Given the description of an element on the screen output the (x, y) to click on. 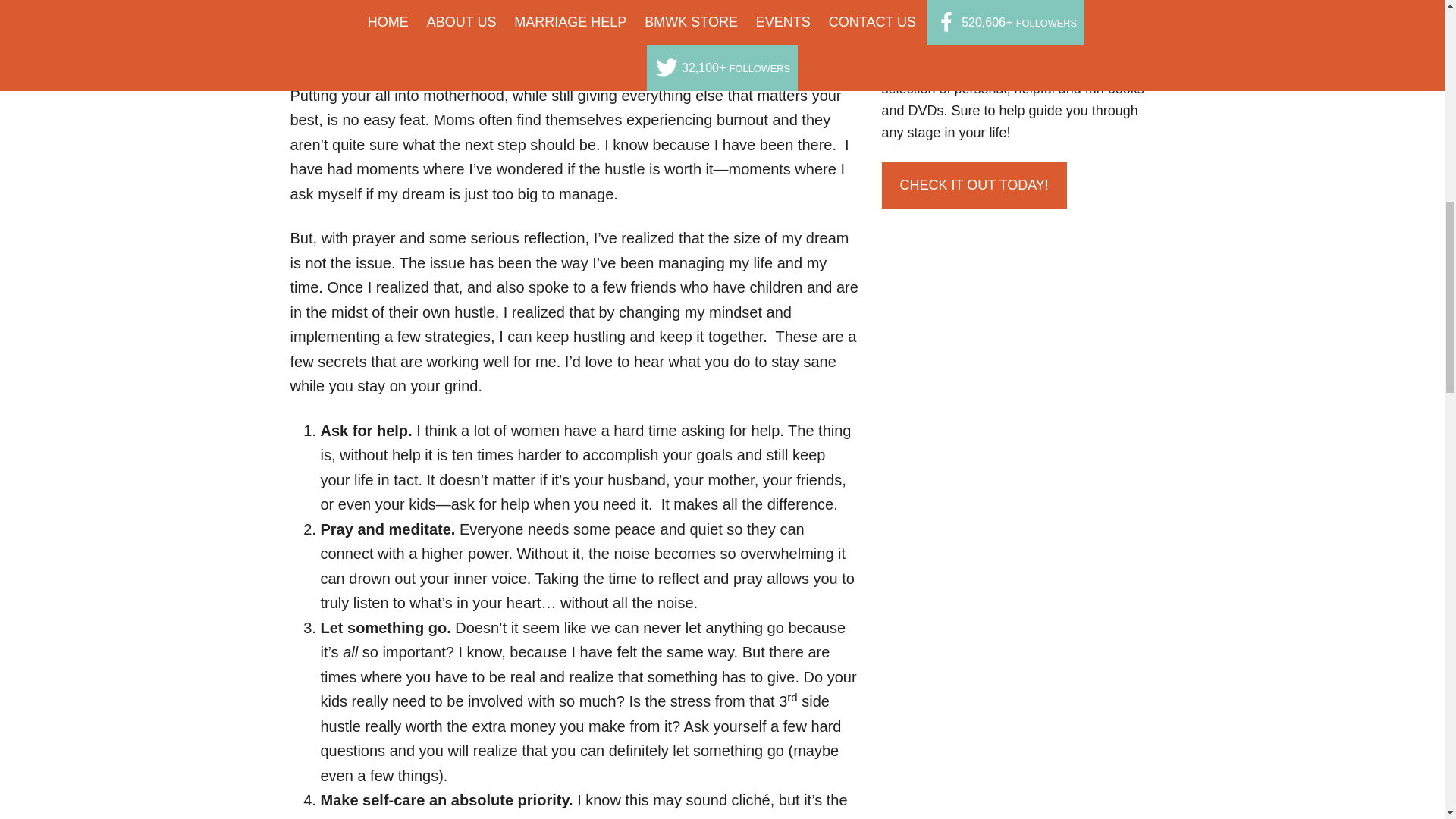
CHECK IT OUT TODAY! (973, 184)
